Given the description of an element on the screen output the (x, y) to click on. 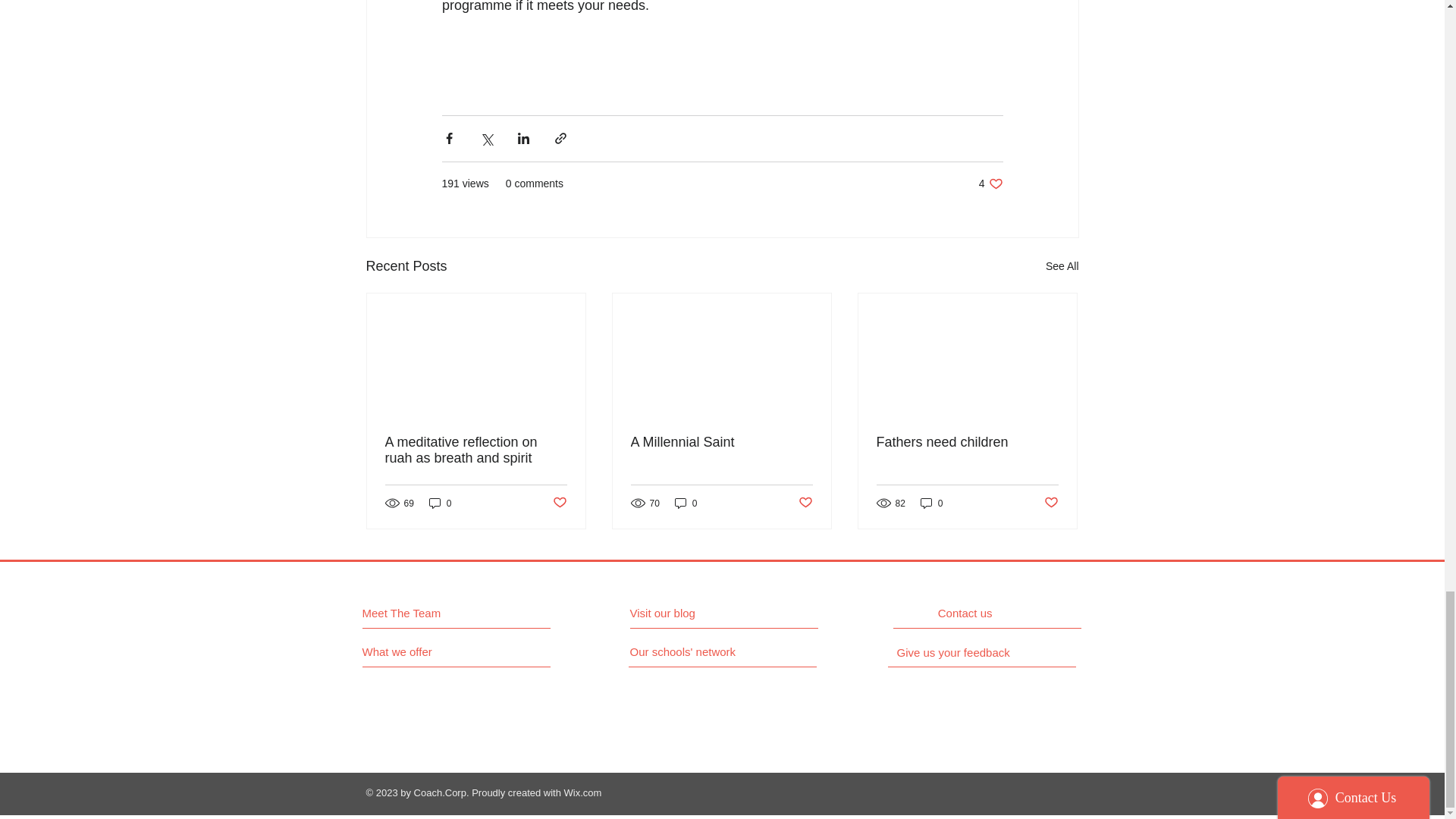
0 (685, 503)
See All (1061, 266)
0 (440, 503)
A Millennial Saint (990, 183)
A meditative reflection on ruah as breath and spirit (721, 442)
Post not marked as liked (476, 450)
Post not marked as liked (804, 503)
